Given the description of an element on the screen output the (x, y) to click on. 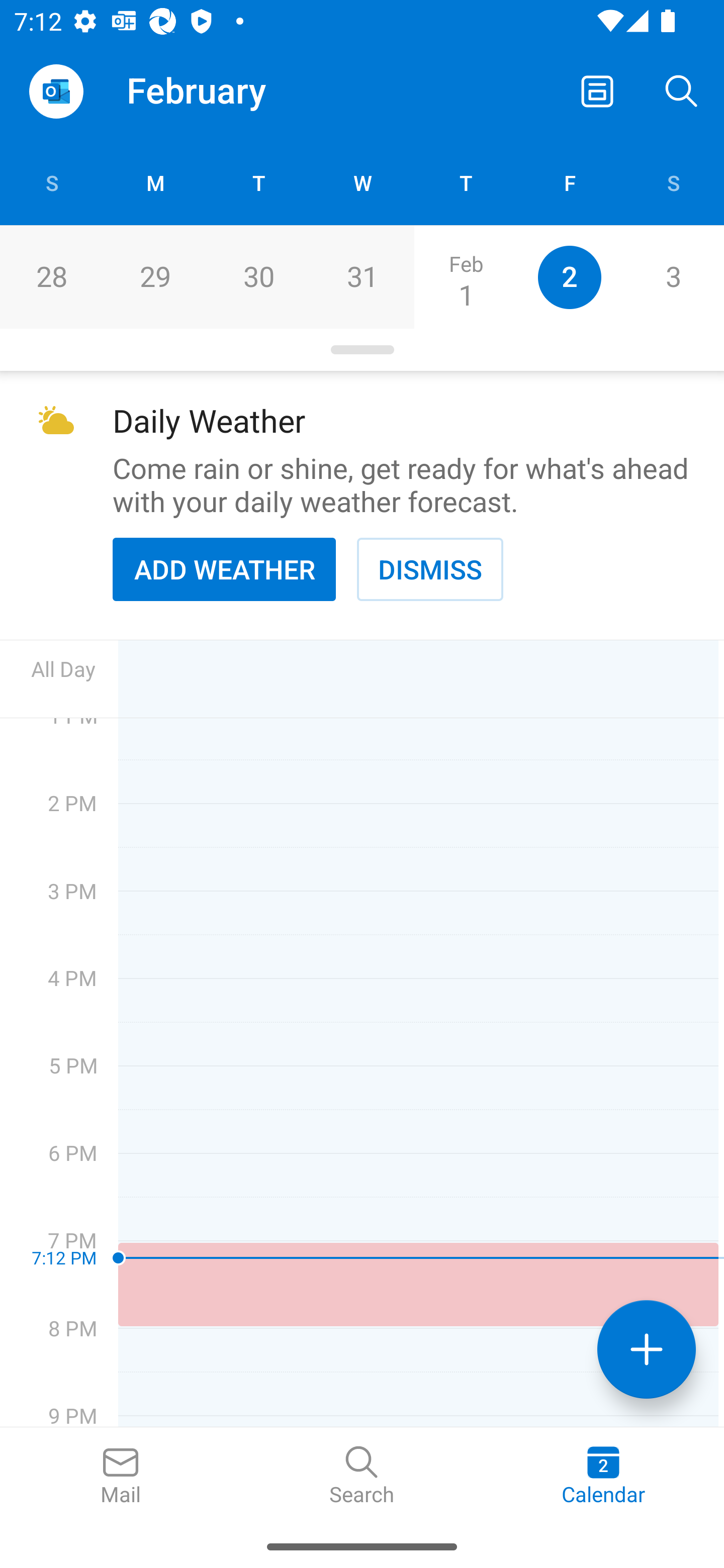
February February 2024, day picker expand (209, 90)
Switch away from Day view (597, 90)
Search (681, 90)
Open Navigation Drawer (55, 91)
28 Sunday, January 28 (51, 277)
29 Monday, January 29 (155, 277)
30 Tuesday, January 30 (258, 277)
31 Wednesday, January 31 (362, 277)
Feb
1 Thursday, February 1 (465, 277)
2 Friday, February 2, today, Selected (569, 277)
3 Saturday, February 3 (672, 277)
Day picker expand (362, 350)
ADD WEATHER (224, 568)
DISMISS (429, 568)
Add new event (646, 1348)
Mail (120, 1475)
Search (361, 1475)
